Given the description of an element on the screen output the (x, y) to click on. 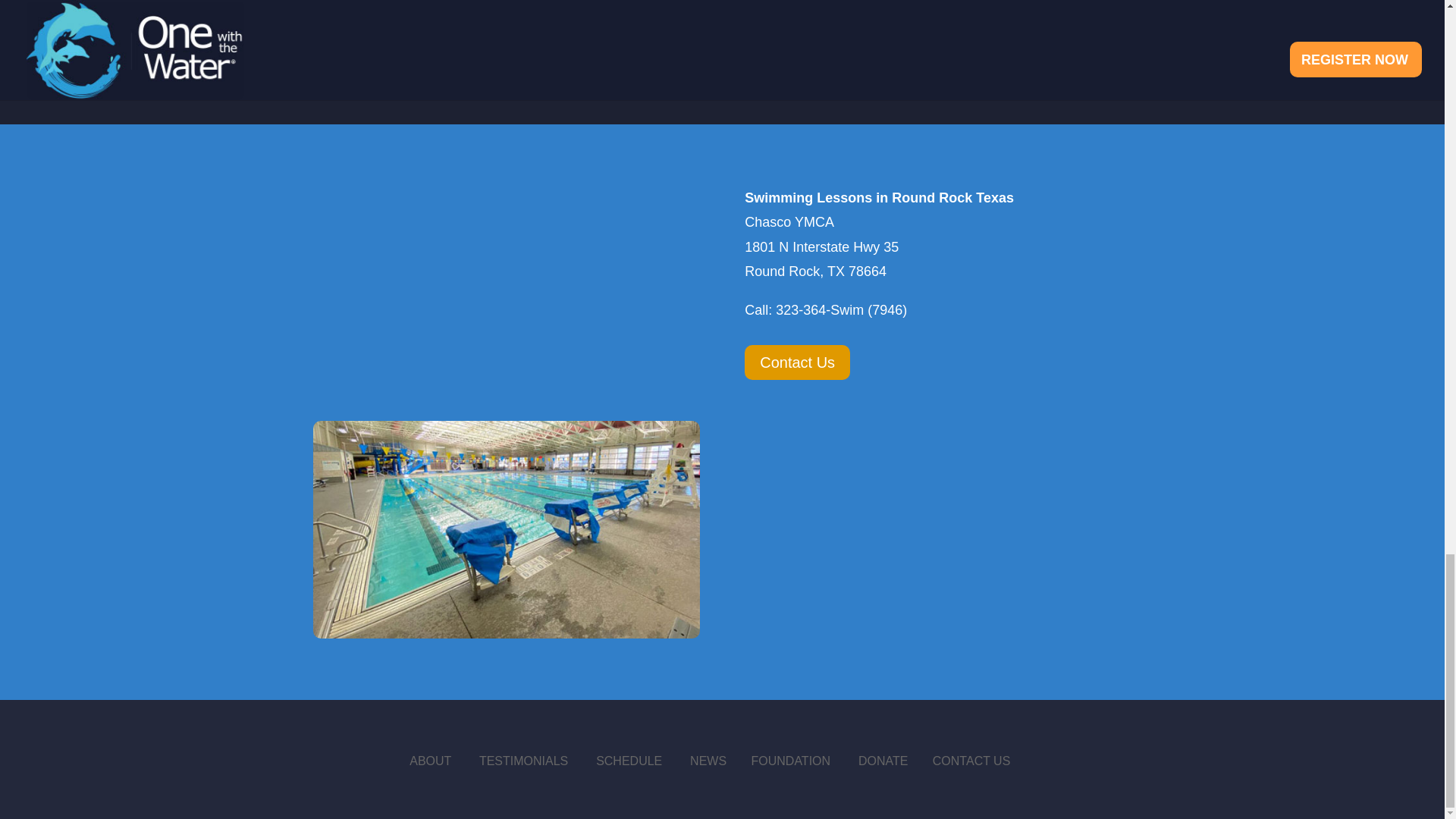
NEWS (708, 760)
ABOUT (430, 760)
CONTACT US (971, 760)
Contact Us (797, 362)
chasco-pool-round-rock-texas (505, 529)
TESTIMONIALS (523, 760)
FOUNDATION (790, 760)
DONATE (883, 760)
SCHEDULE (628, 760)
